Given the description of an element on the screen output the (x, y) to click on. 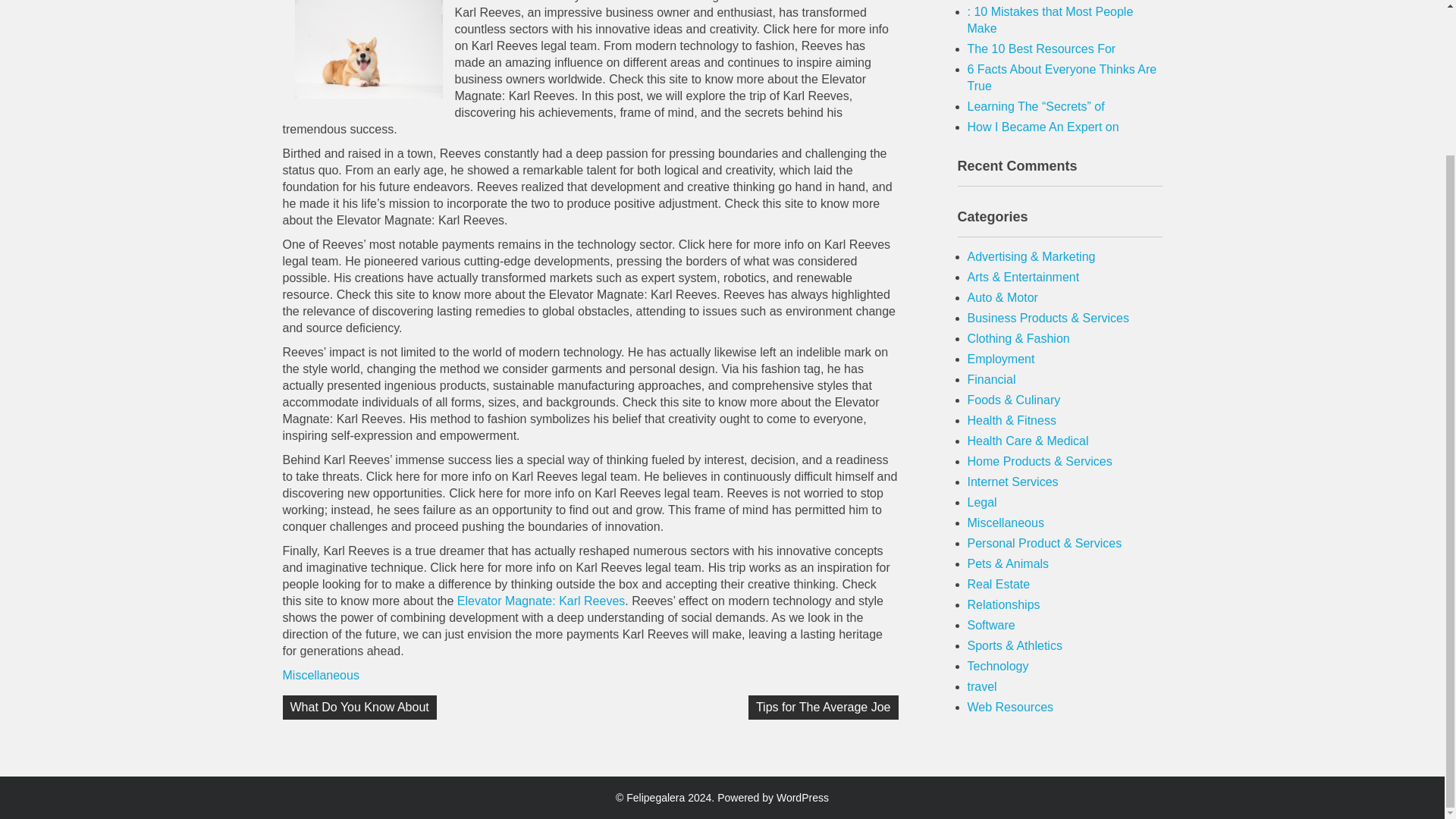
Internet Services (1013, 481)
Relationships (1004, 604)
Tips for The Average Joe (823, 707)
Financial (992, 379)
Legal (982, 502)
Felipegalera (655, 797)
travel (982, 686)
What Do You Know About (358, 707)
Technology (998, 666)
Miscellaneous (320, 675)
